Given the description of an element on the screen output the (x, y) to click on. 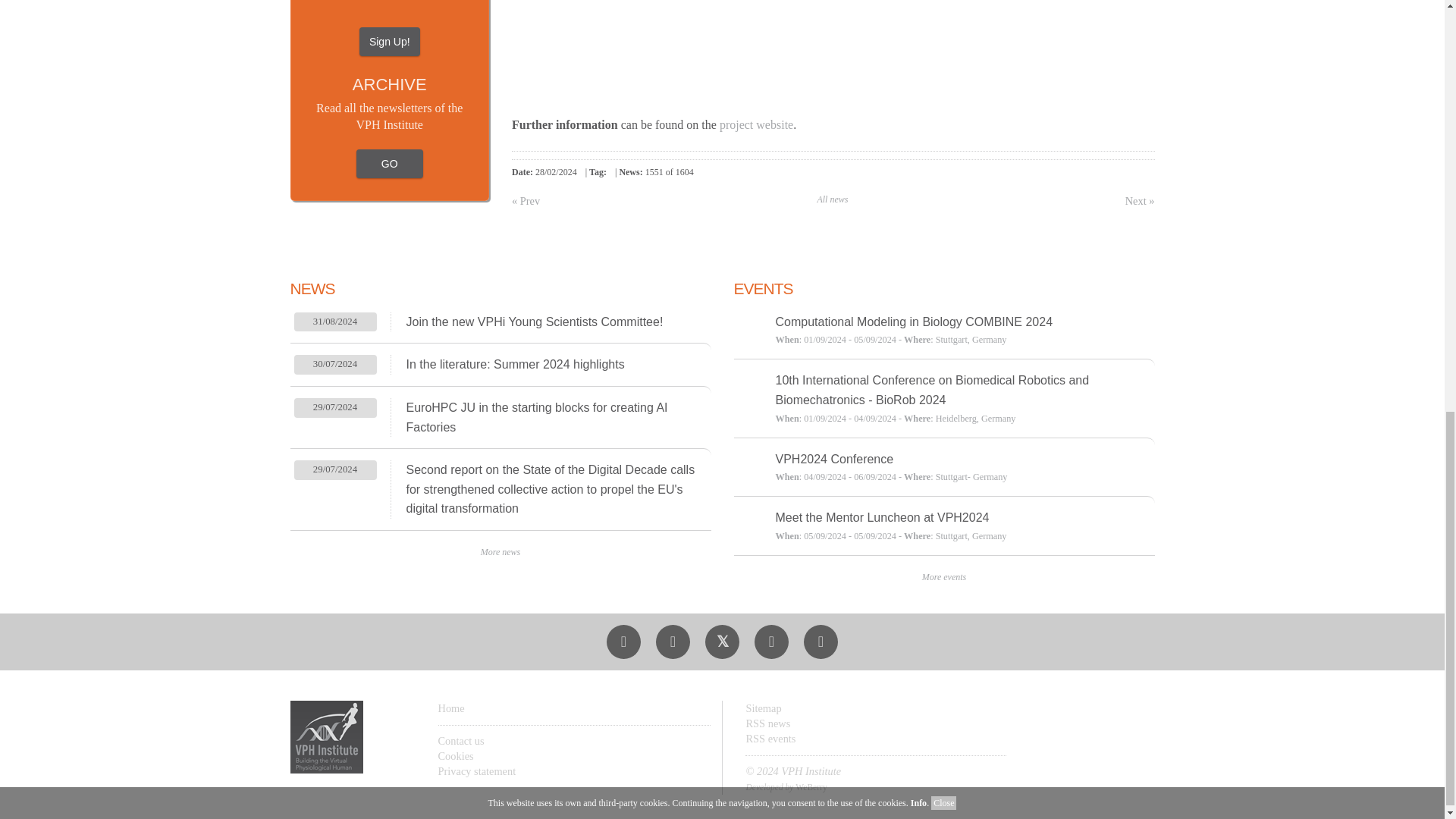
GO (389, 4)
All news (833, 199)
project website (756, 124)
